Given the description of an element on the screen output the (x, y) to click on. 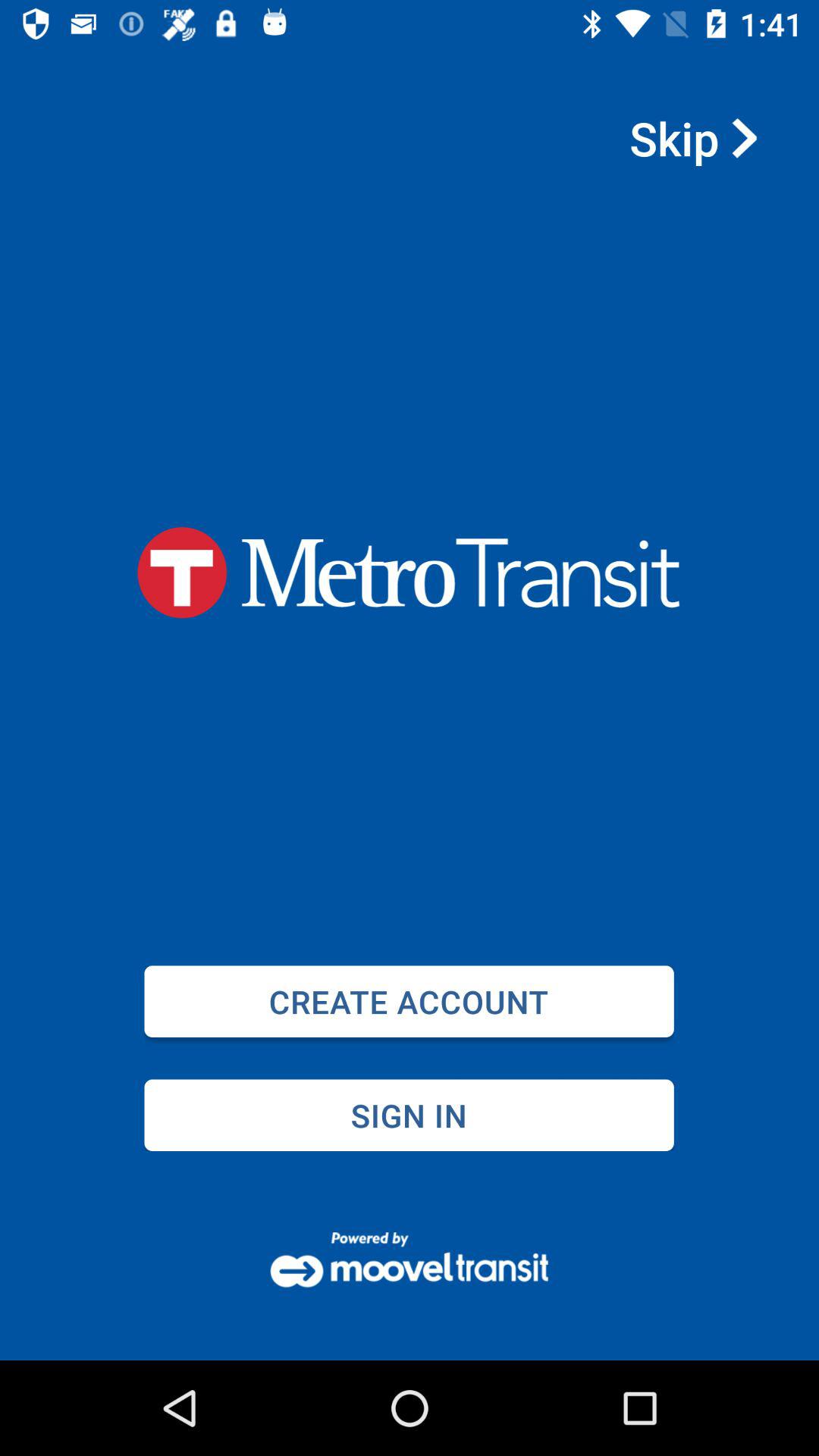
swipe until the sign in item (408, 1115)
